Given the description of an element on the screen output the (x, y) to click on. 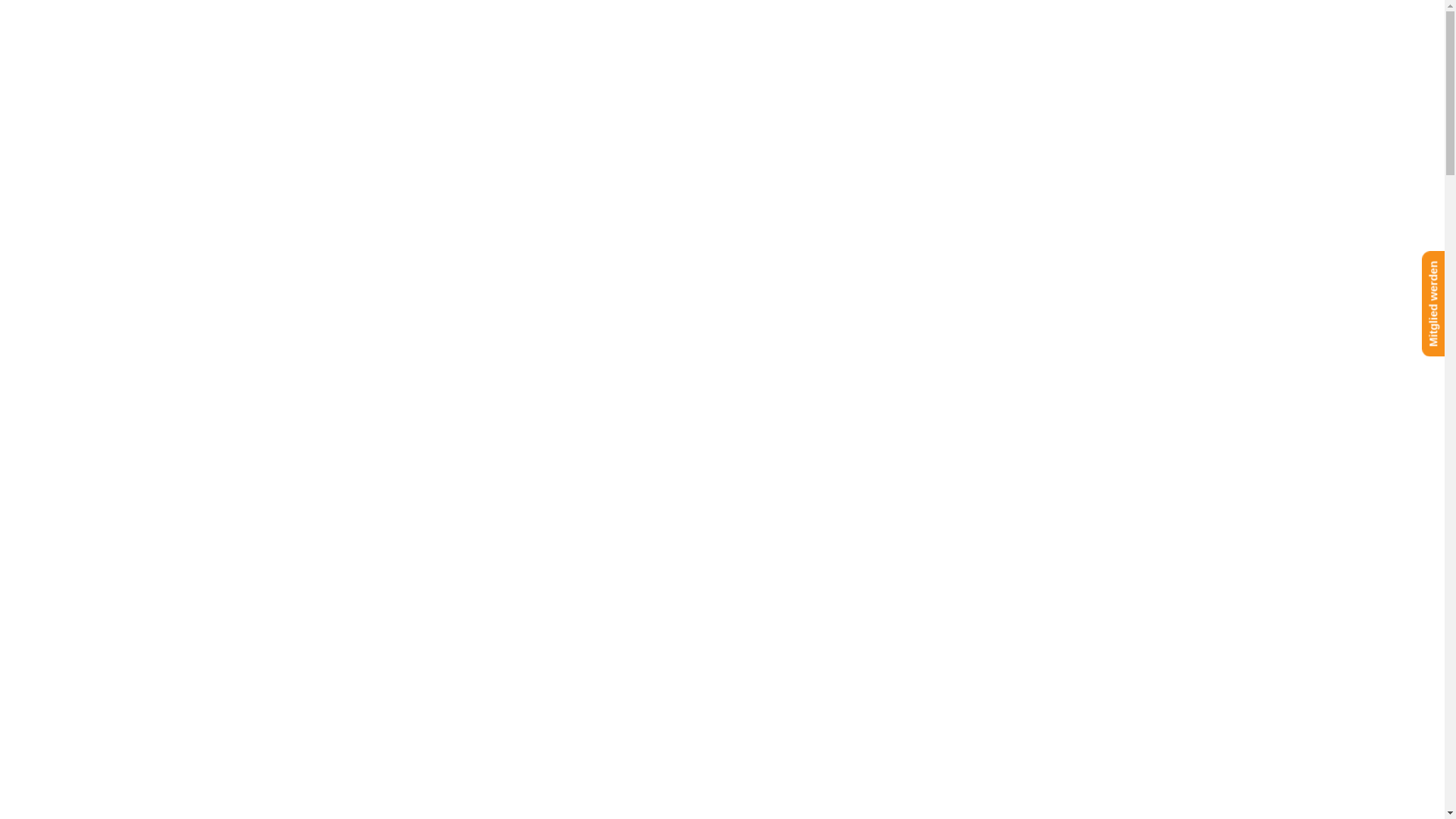
Funktionales Training Element type: text (105, 316)
+43314222148 Element type: text (68, 210)
Gruppenkurse Element type: text (87, 304)
Preise Element type: text (32, 432)
Studio Element type: text (32, 239)
Webshop Element type: text (57, 420)
Impressionen Element type: text (68, 368)
Kontakt Element type: text (35, 471)
Leistungen Element type: text (61, 265)
Wellnessbereich Element type: text (75, 342)
Mitglied werden Element type: text (56, 458)
Verkauf Element type: text (53, 407)
Kidsclub Element type: text (72, 291)
Krafttraining Element type: text (81, 278)
Shop Element type: text (29, 394)
Studio Element type: text (32, 252)
Ausdauer Element type: text (75, 329)
Kursplan Element type: text (38, 381)
Kinderbetreuung Element type: text (76, 355)
